Given the description of an element on the screen output the (x, y) to click on. 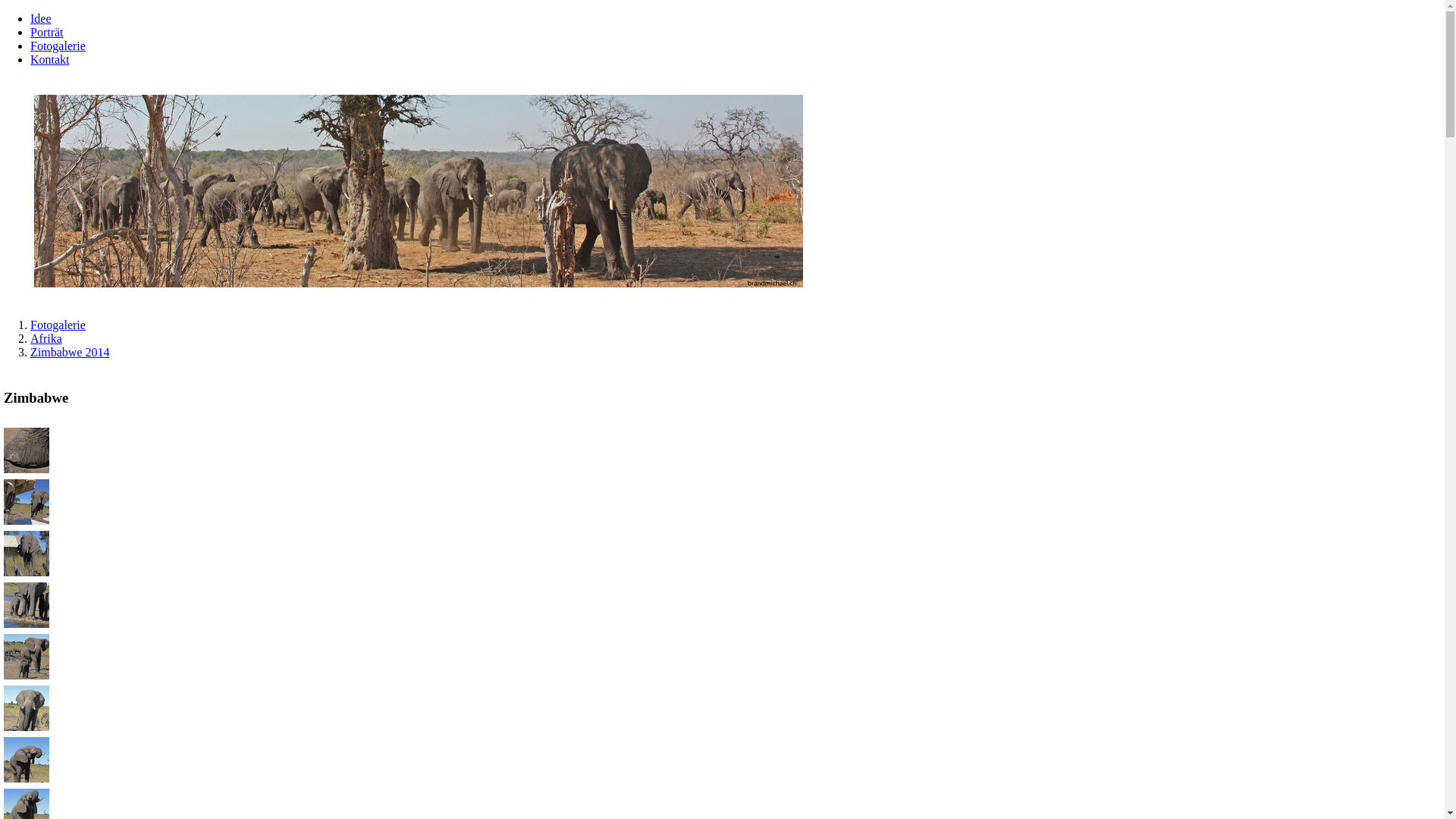
Kontakt Element type: text (49, 59)
Afrika Element type: text (46, 338)
Fotogalerie Element type: text (57, 324)
Fotogalerie Element type: text (57, 45)
Idee Element type: text (40, 18)
Zimbabwe 2014 Element type: text (69, 351)
